Given the description of an element on the screen output the (x, y) to click on. 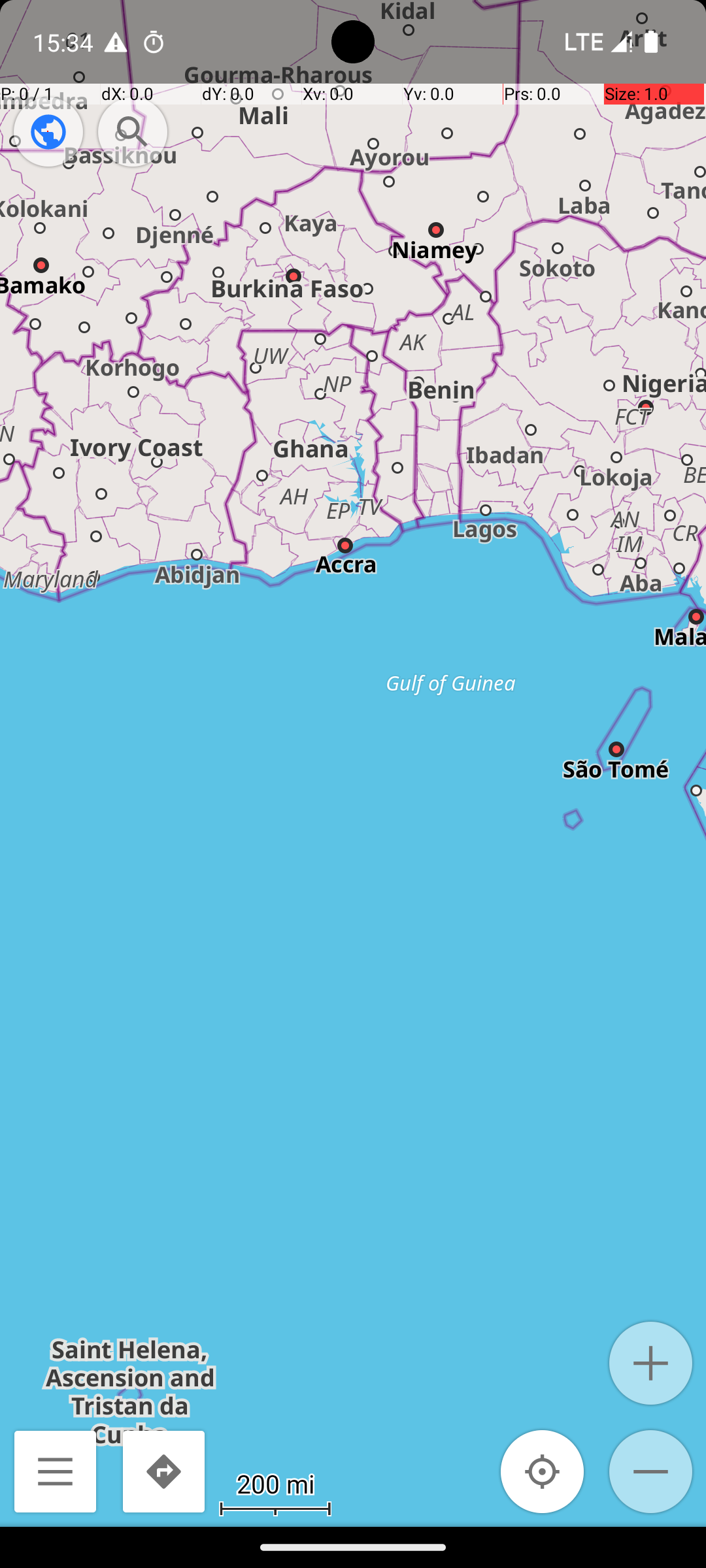
200 mi Element type: android.widget.TextView (274, 1483)
